Given the description of an element on the screen output the (x, y) to click on. 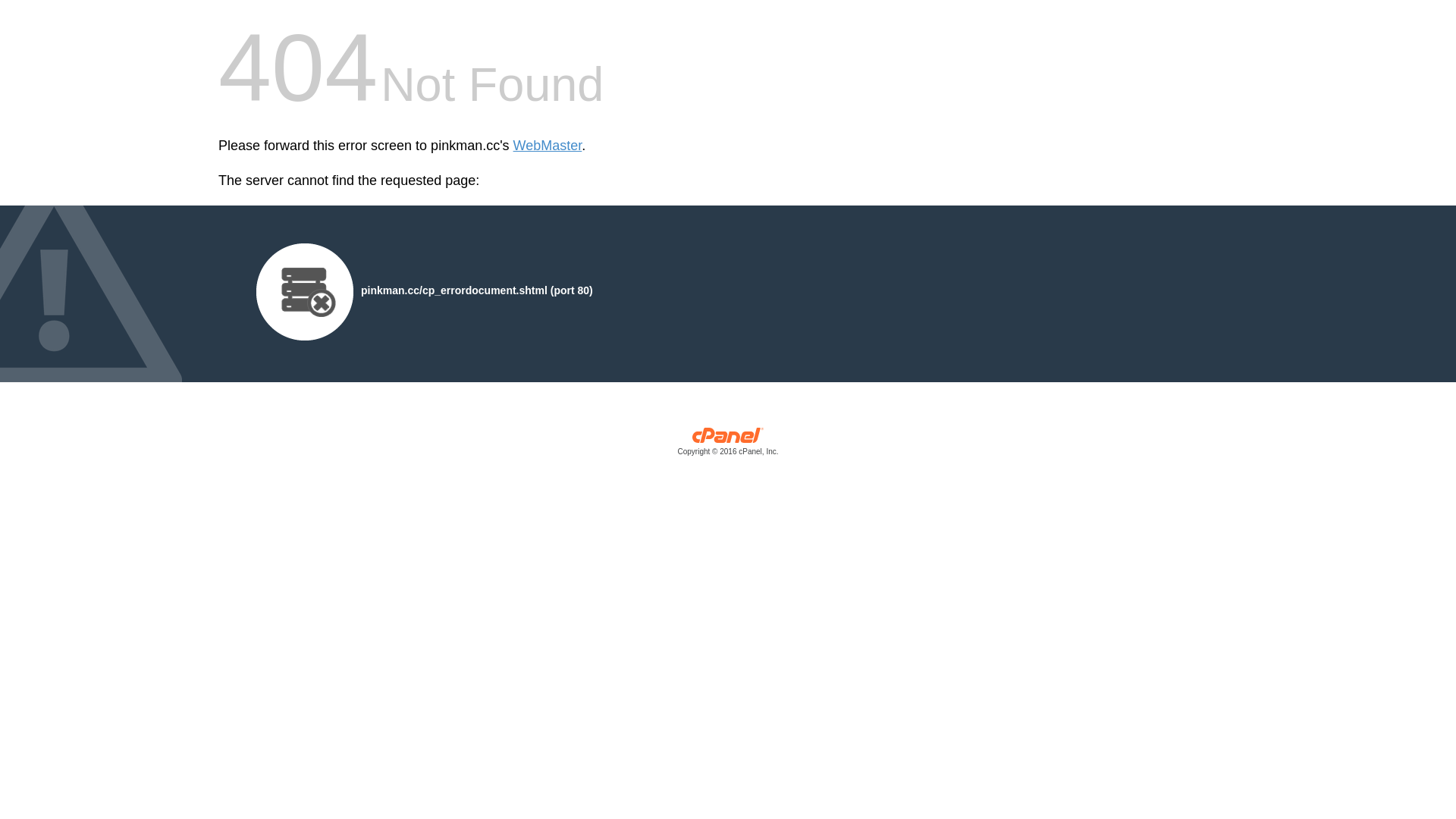
WebMaster Element type: text (547, 145)
